Given the description of an element on the screen output the (x, y) to click on. 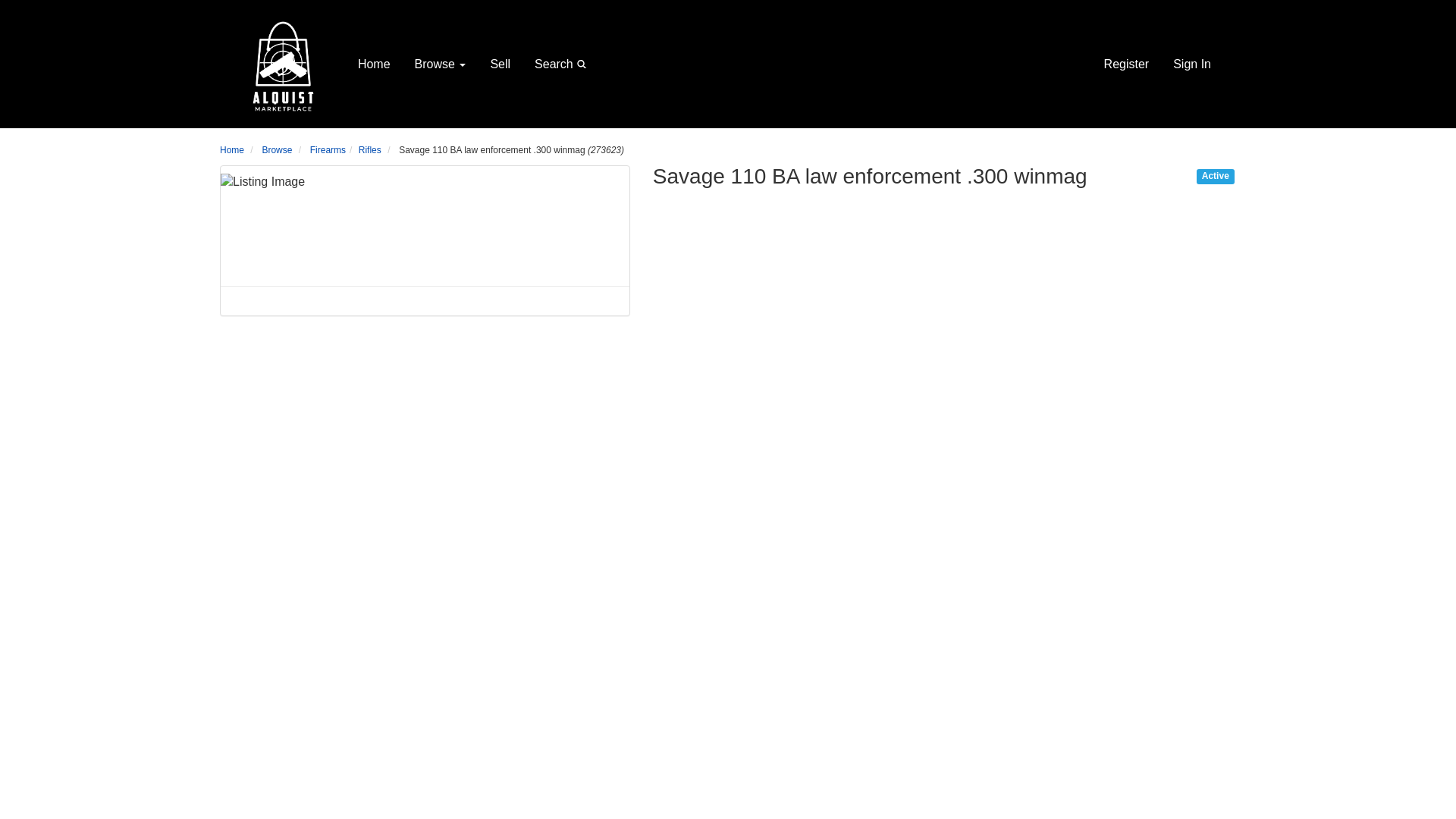
Home (374, 64)
Register (1126, 64)
Browse (441, 64)
Search (563, 64)
Sign In (1191, 64)
Rifles (369, 149)
Browse (277, 149)
Sell (499, 64)
Firearms (328, 149)
Home (231, 149)
